Given the description of an element on the screen output the (x, y) to click on. 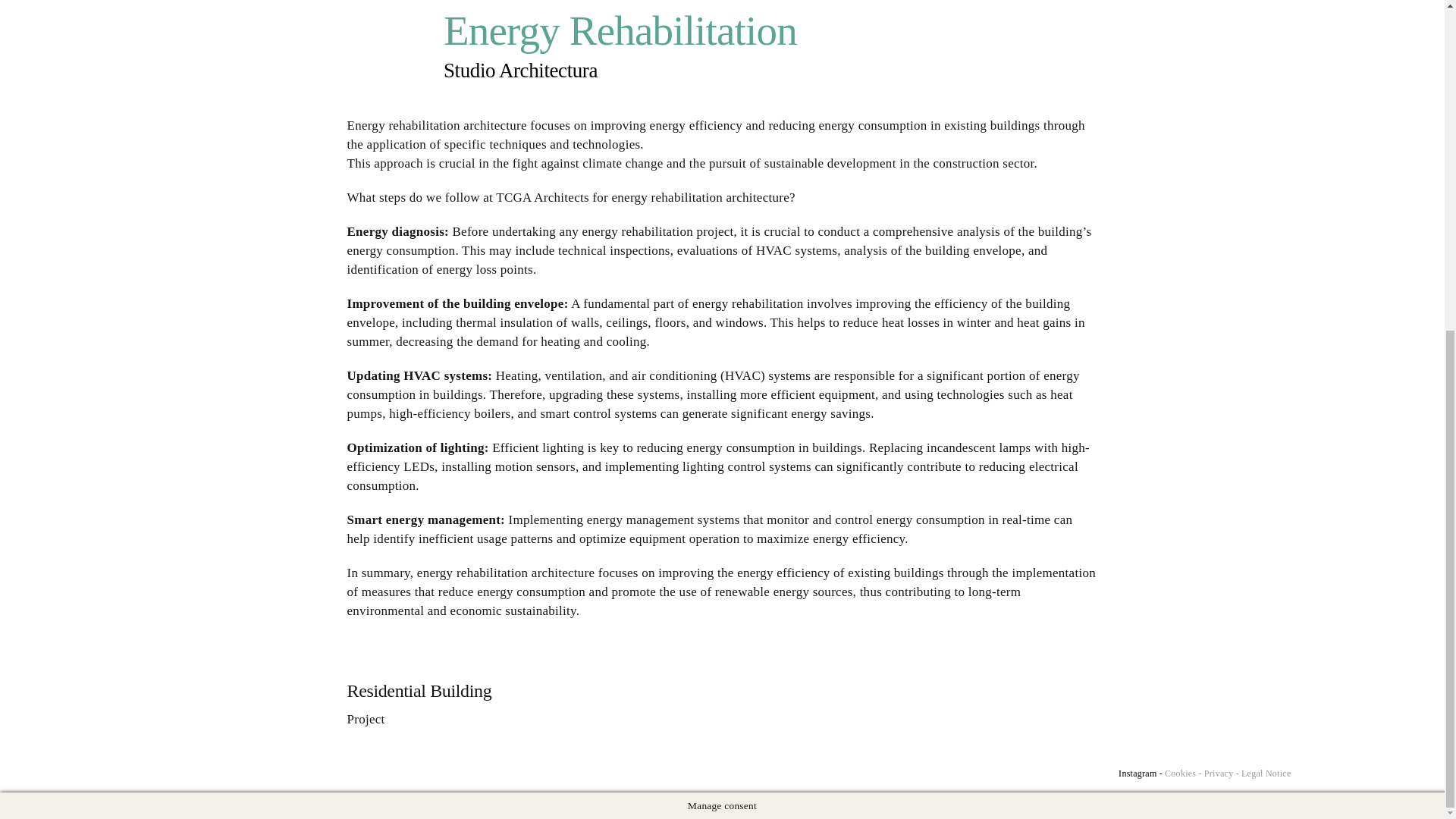
Project (366, 718)
Instagram (1137, 773)
Privacy (1218, 773)
Cookies (1179, 773)
Residential Building (419, 690)
Legal Notice (1266, 773)
